Given the description of an element on the screen output the (x, y) to click on. 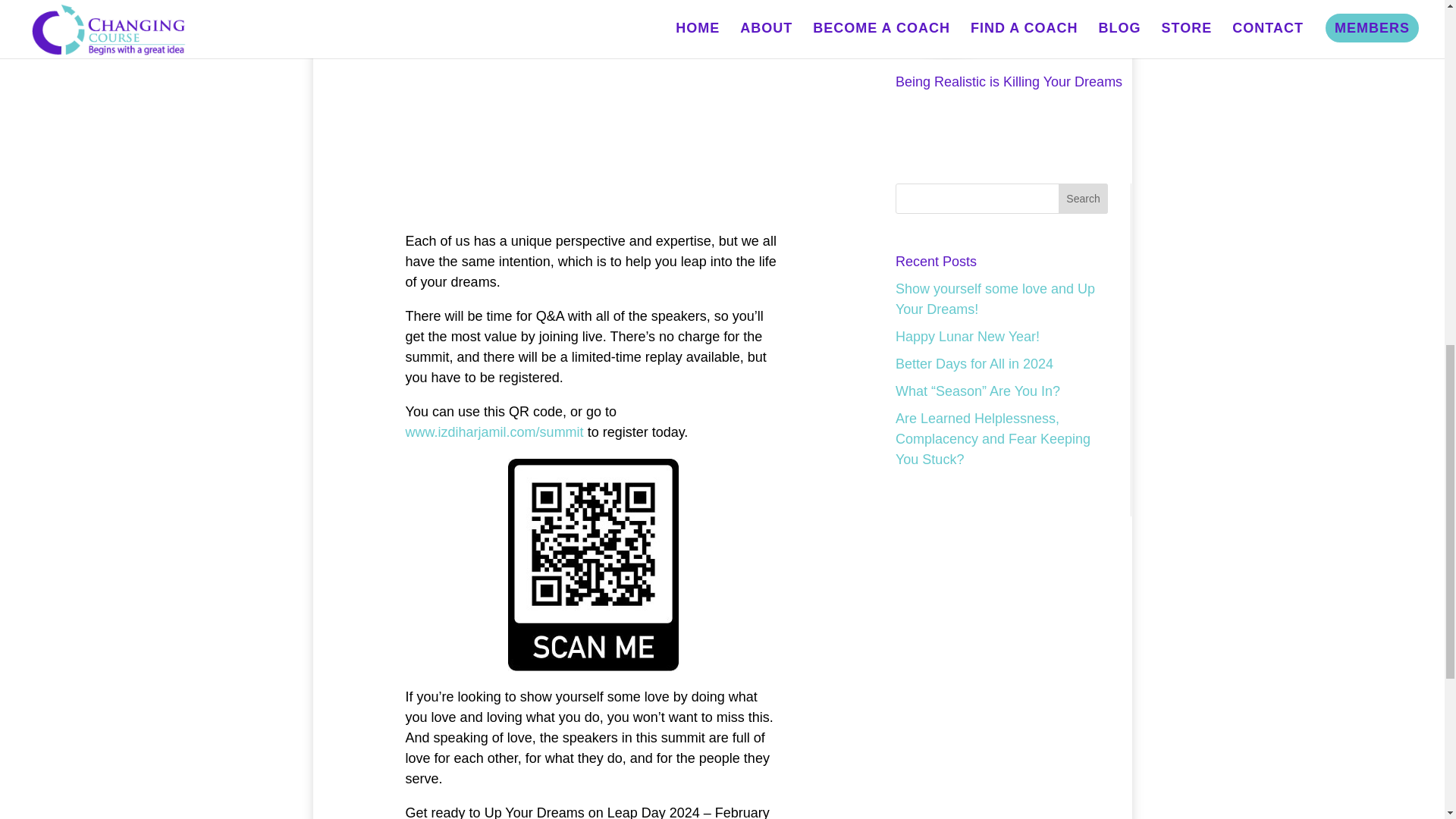
Show yourself some love and Up Your Dreams! (994, 298)
Search (1083, 198)
Up Your Dreams Summit 2024 Reel (594, 109)
Happy Lunar New Year! (967, 336)
Search (1083, 198)
Better Days for All in 2024 (973, 363)
